Given the description of an element on the screen output the (x, y) to click on. 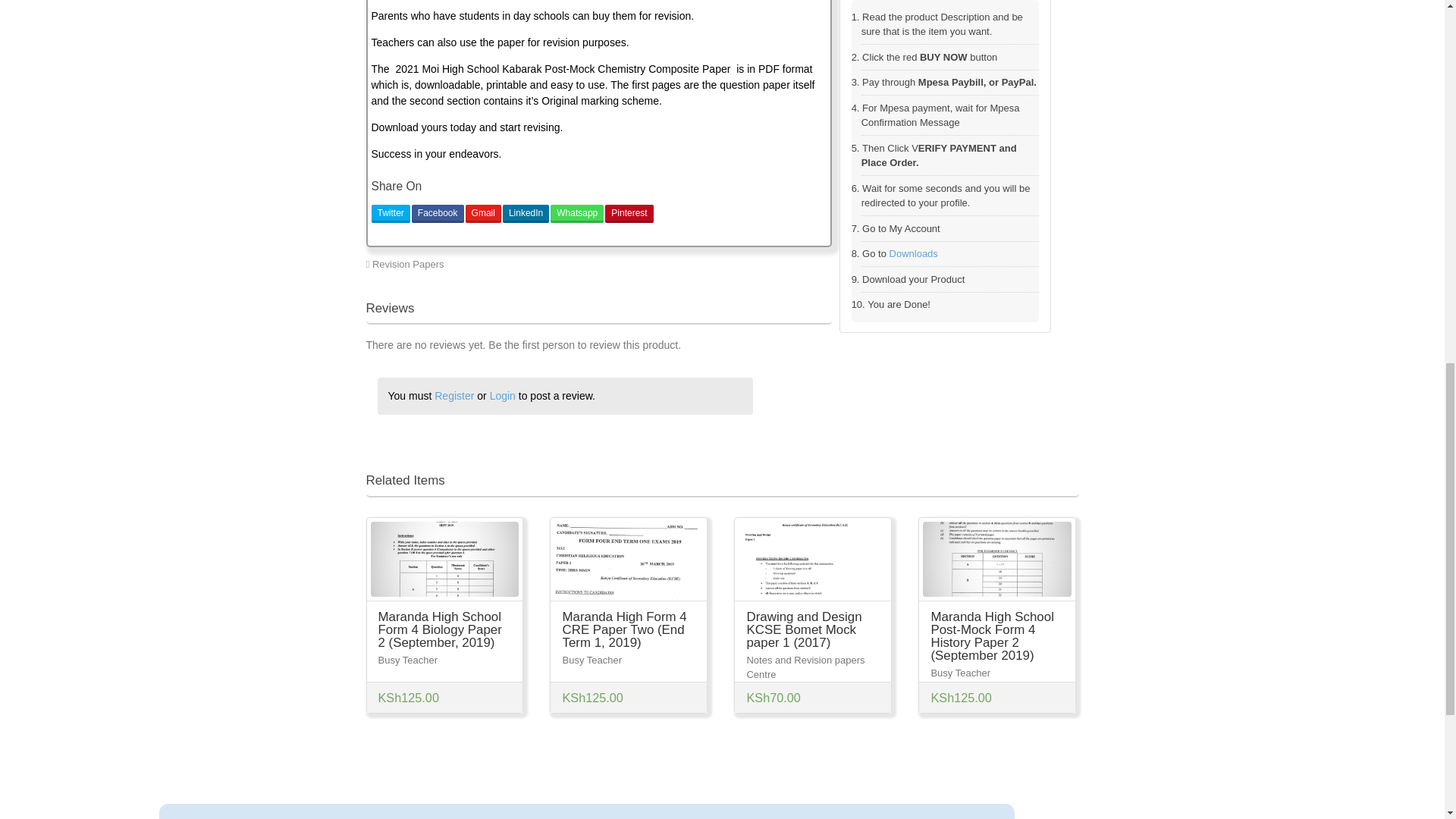
Facebook (438, 213)
Revision Papers (408, 264)
Twitter (390, 213)
Whatsapp (577, 213)
Pinterest (628, 213)
LinkedIn (525, 213)
Gmail (482, 213)
Moi Kabarak Post-Mock Past Papers 2021 (733, 264)
